Given the description of an element on the screen output the (x, y) to click on. 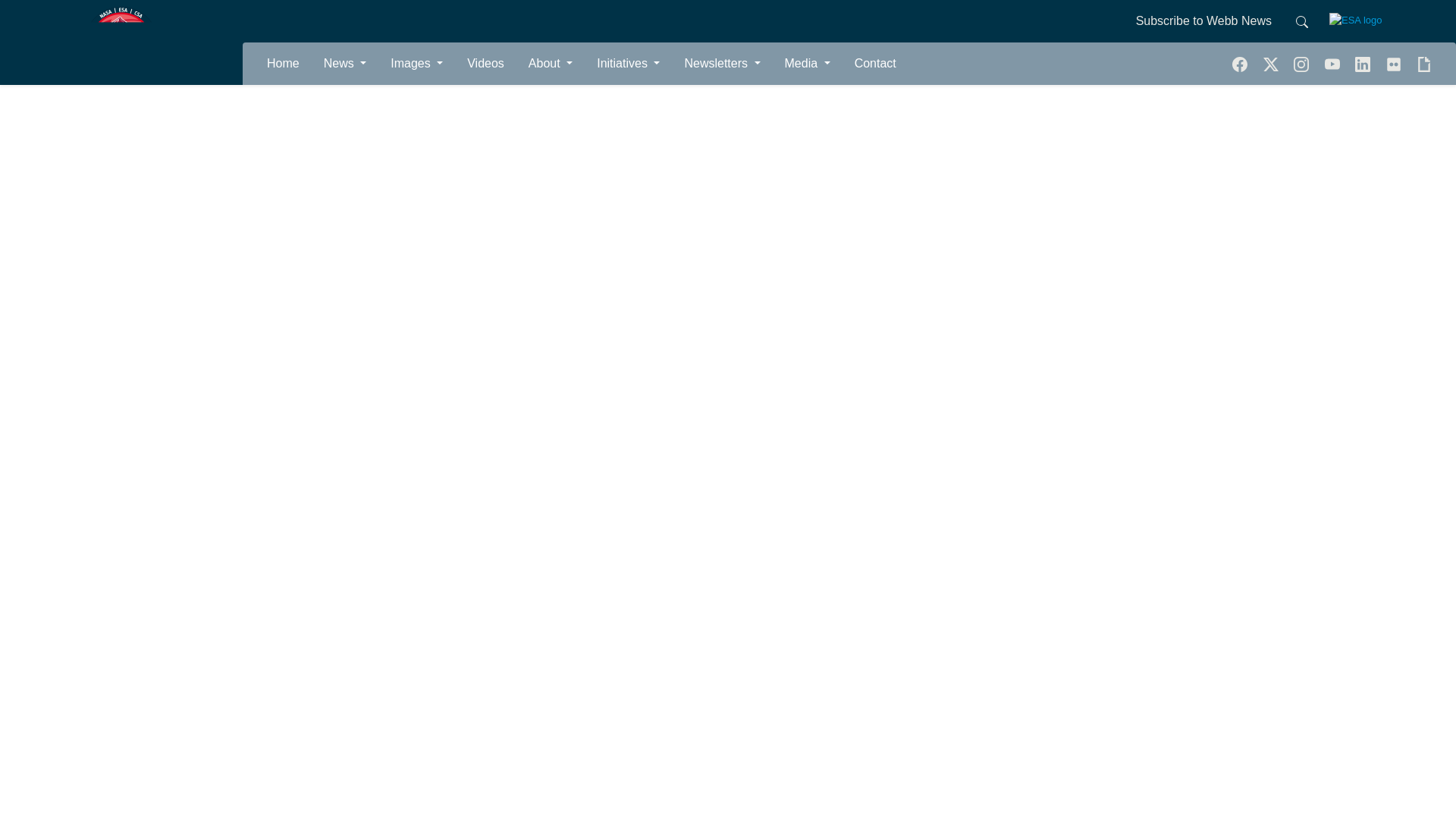
About (550, 63)
Images (416, 63)
Subscribe to Webb News (1203, 21)
Videos (486, 63)
News (344, 63)
Home (282, 63)
